Given the description of an element on the screen output the (x, y) to click on. 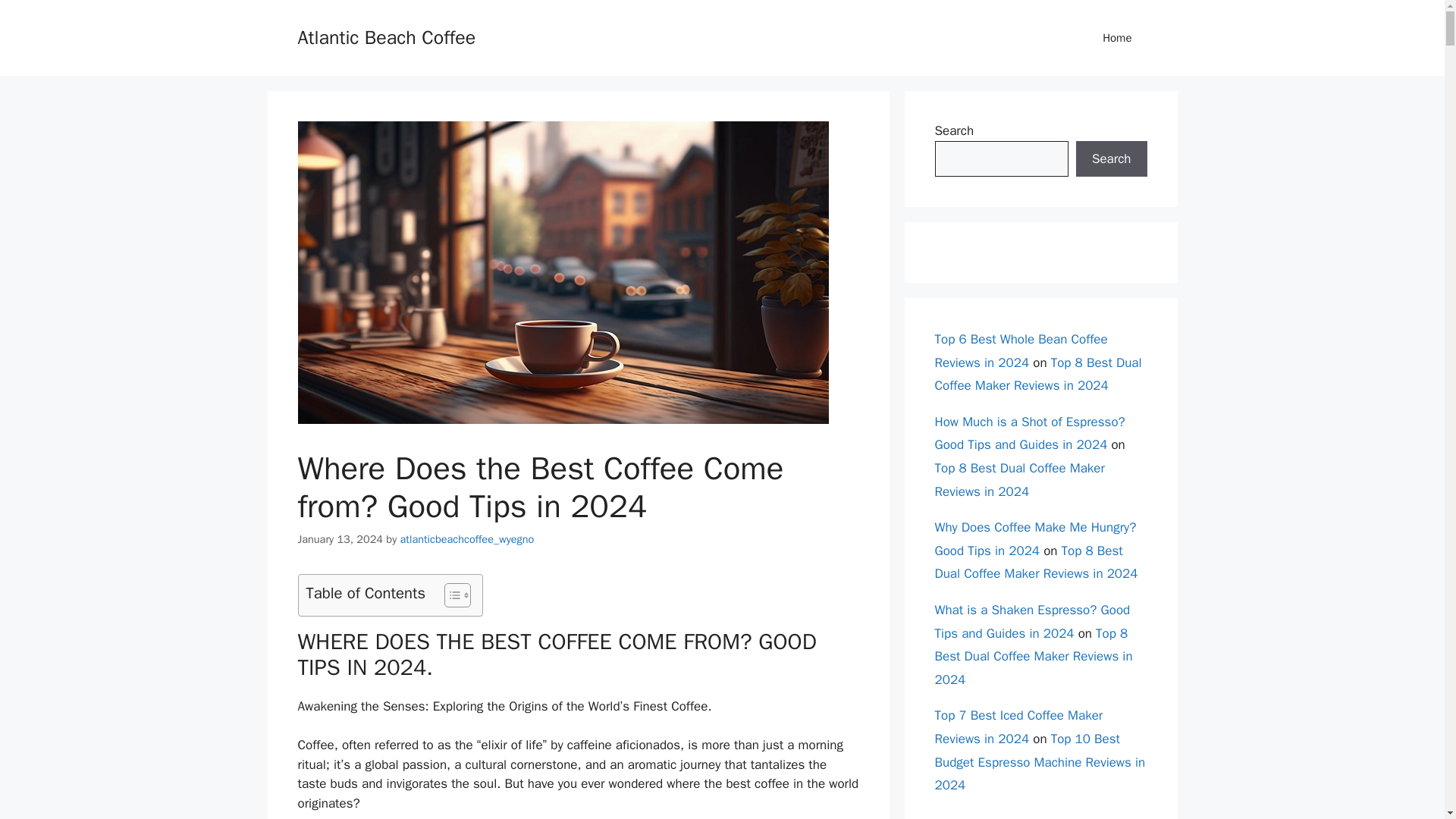
Atlantic Beach Coffee (386, 37)
Home (1117, 37)
How Much is a Shot of Espresso? Good Tips and Guides in 2024 (1029, 433)
Search (1111, 158)
Top 8 Best Dual Coffee Maker Reviews in 2024 (1037, 373)
Top 6 Best Whole Bean Coffee Reviews in 2024 (1020, 351)
